Given the description of an element on the screen output the (x, y) to click on. 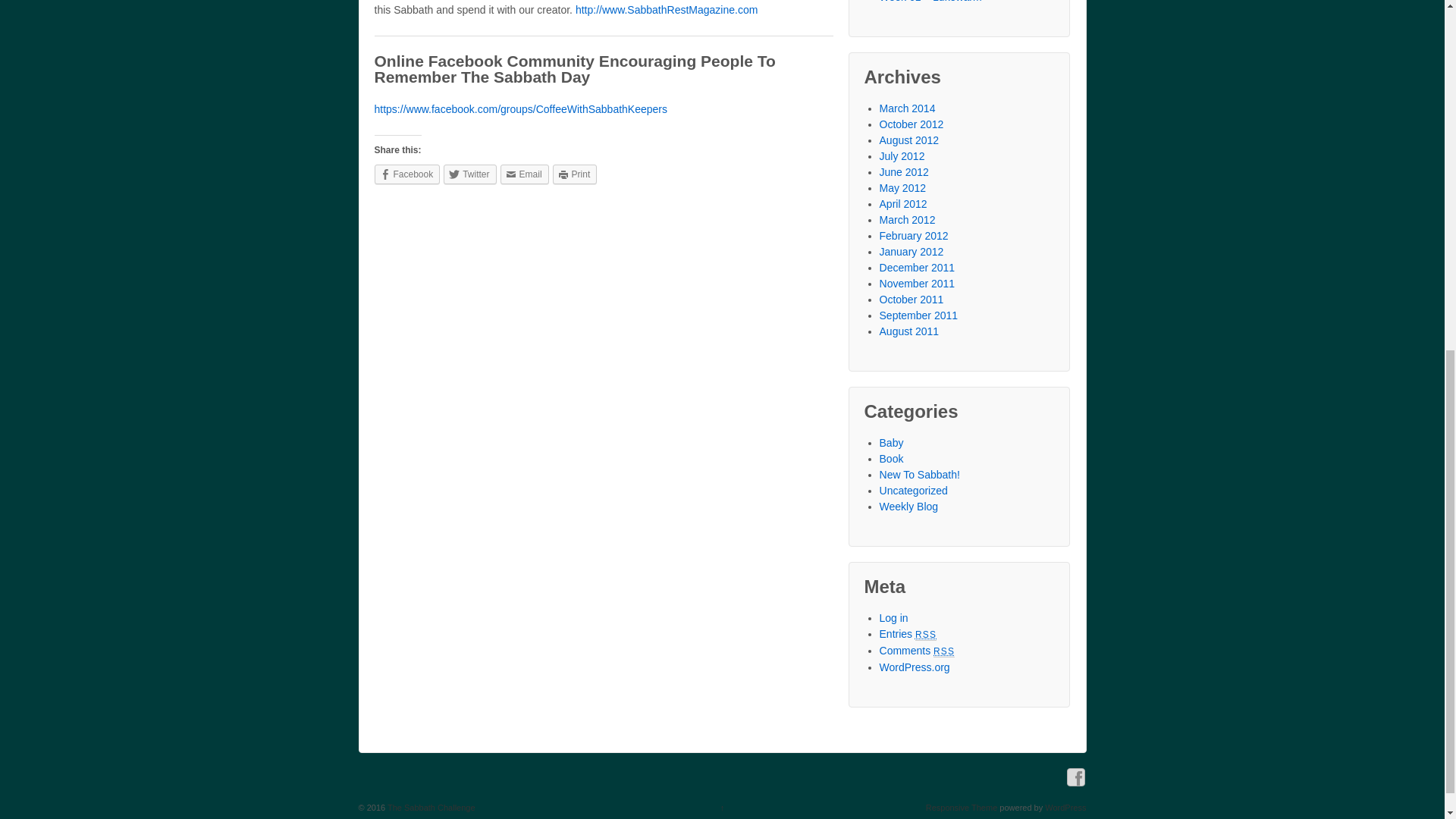
December 2011 (917, 267)
Really Simple Syndication (944, 650)
Email (524, 174)
July 2012 (901, 155)
Really Simple Syndication (925, 633)
June 2012 (903, 172)
August 2012 (909, 140)
April 2012 (903, 203)
Book (891, 458)
Responsive Theme (961, 807)
Twitter (470, 174)
Click to print (574, 174)
October 2012 (911, 123)
Facebook (407, 174)
